Given the description of an element on the screen output the (x, y) to click on. 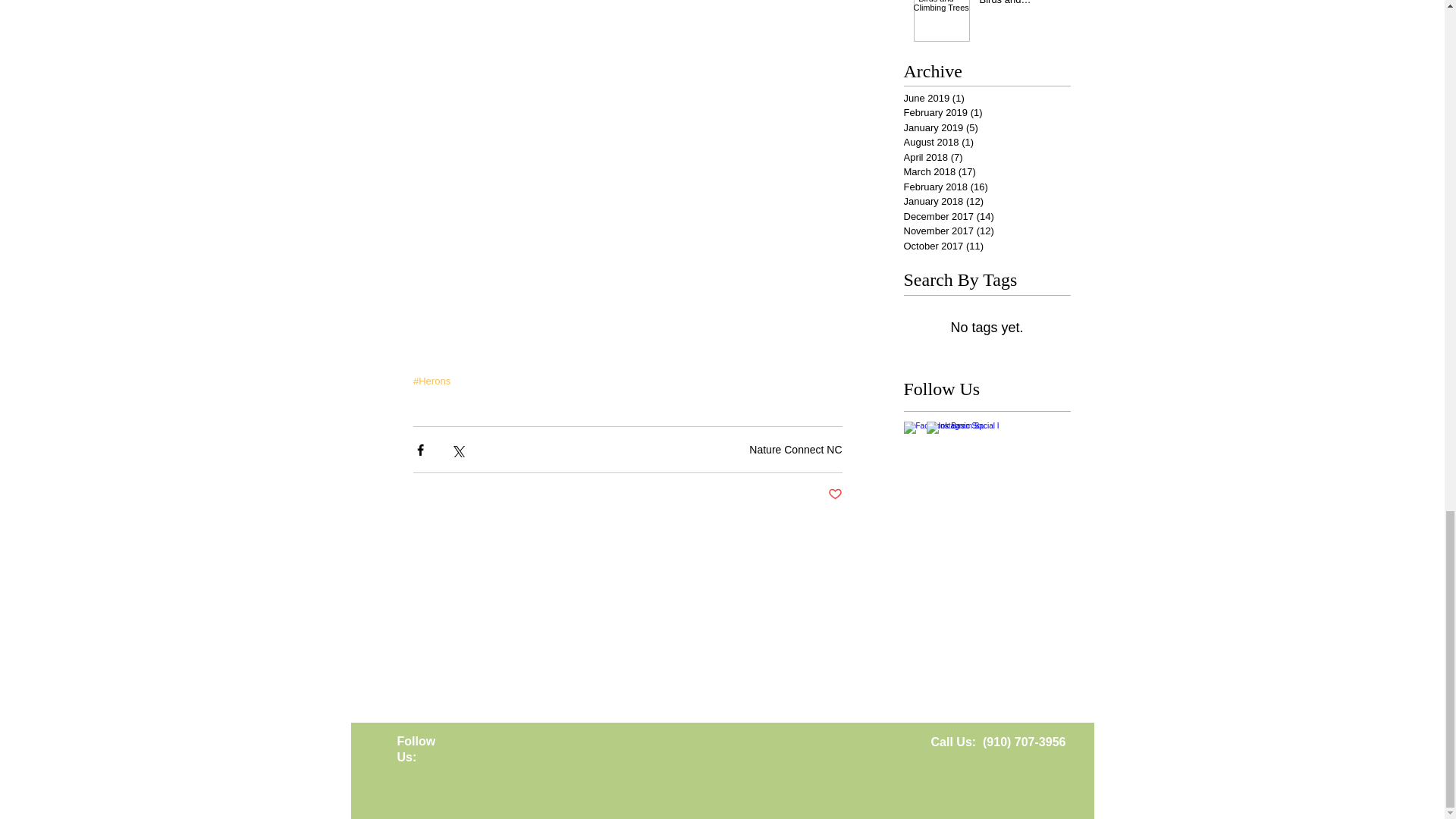
Nature Connect NC (795, 449)
Post not marked as liked (835, 494)
Fireflies Spring 2018: Week 12 - Birds and Climbing Trees (1020, 6)
